Given the description of an element on the screen output the (x, y) to click on. 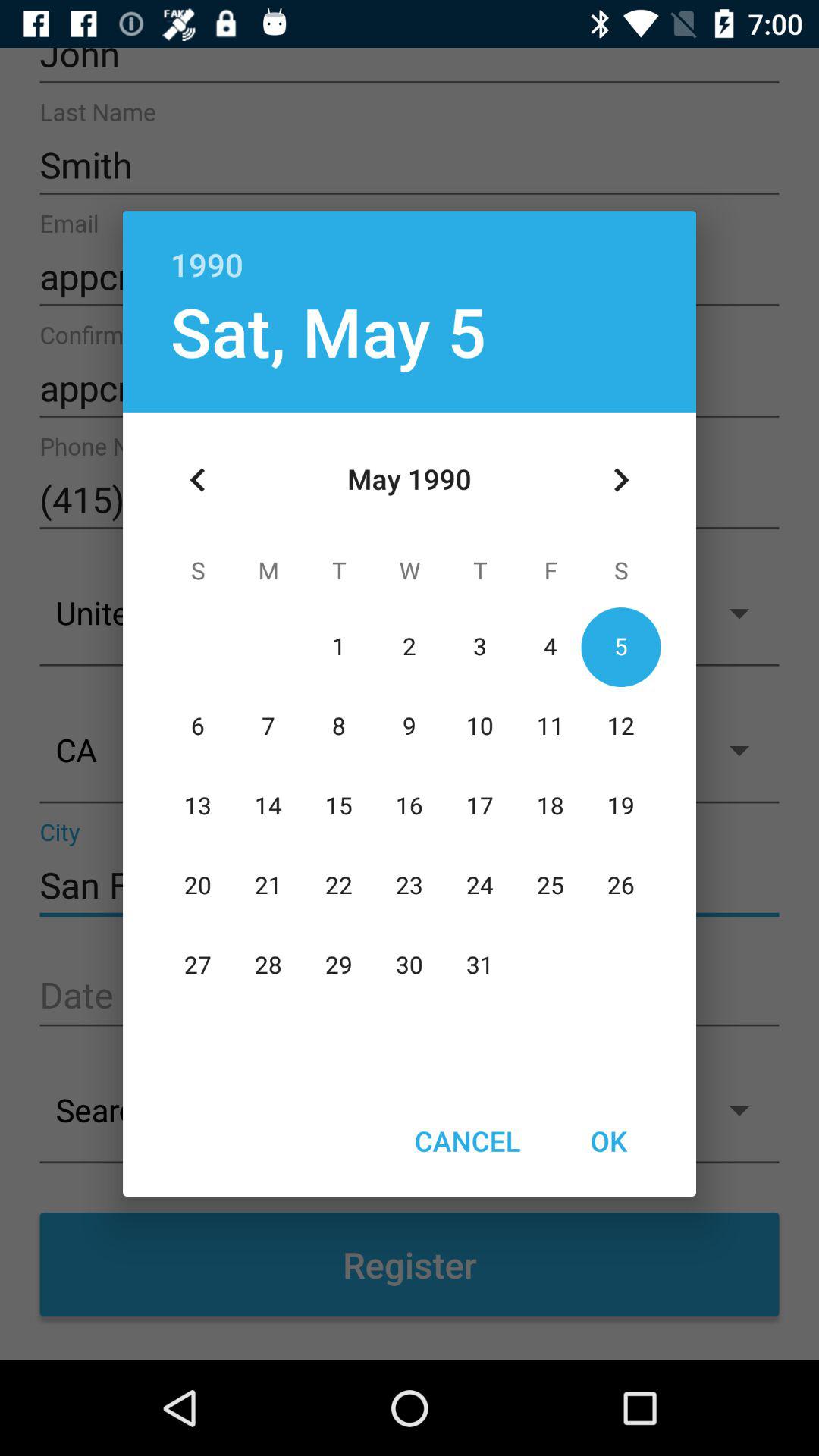
click ok item (608, 1140)
